Given the description of an element on the screen output the (x, y) to click on. 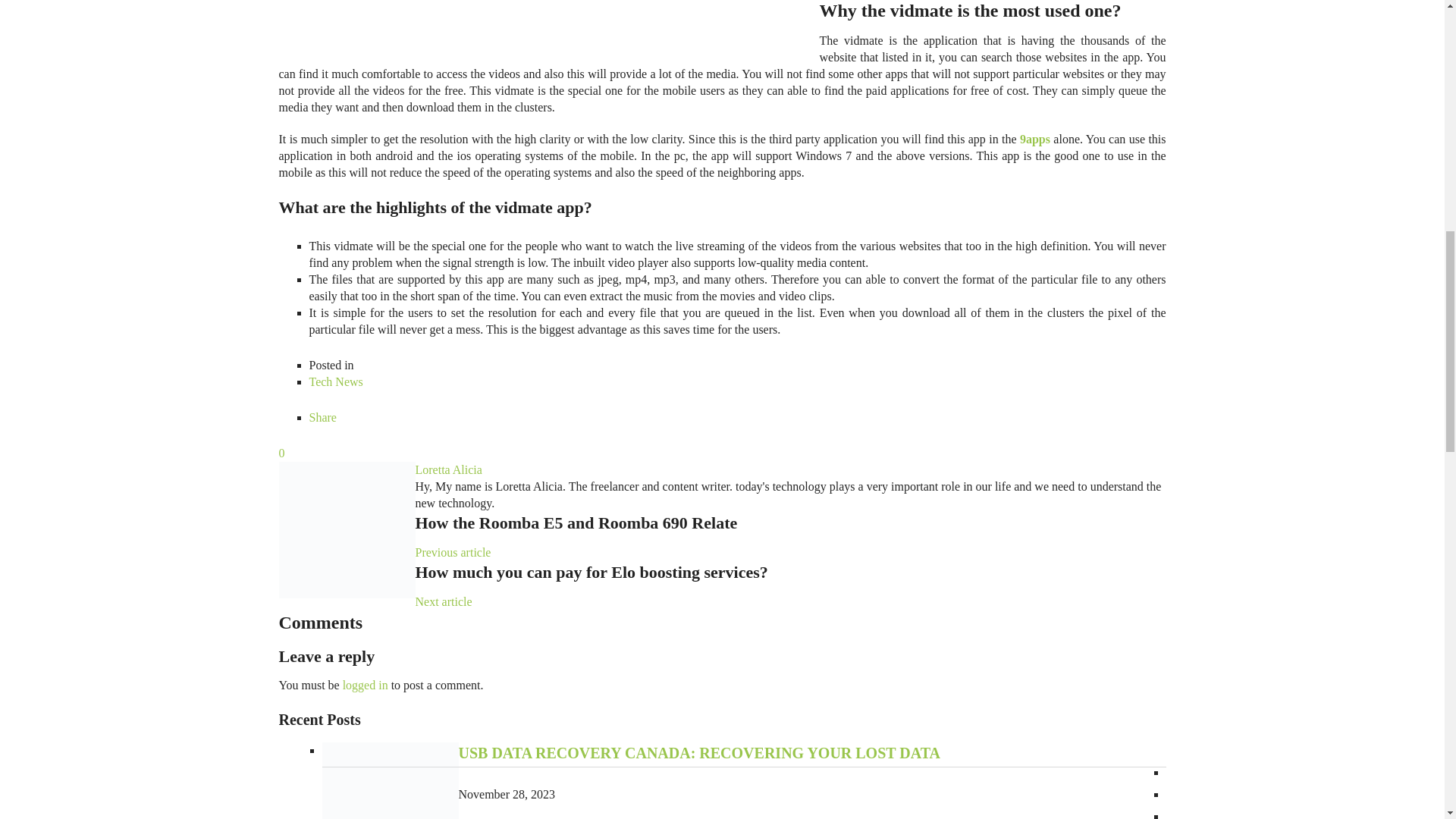
Posts by Loretta Alicia (447, 469)
USB DATA RECOVERY CANADA: RECOVERING YOUR LOST DATA (698, 752)
Tech News (335, 381)
Share on Facebook (322, 417)
Next article (442, 601)
Previous article (453, 552)
9apps (1034, 138)
logged in (365, 684)
Loretta Alicia (447, 469)
